Given the description of an element on the screen output the (x, y) to click on. 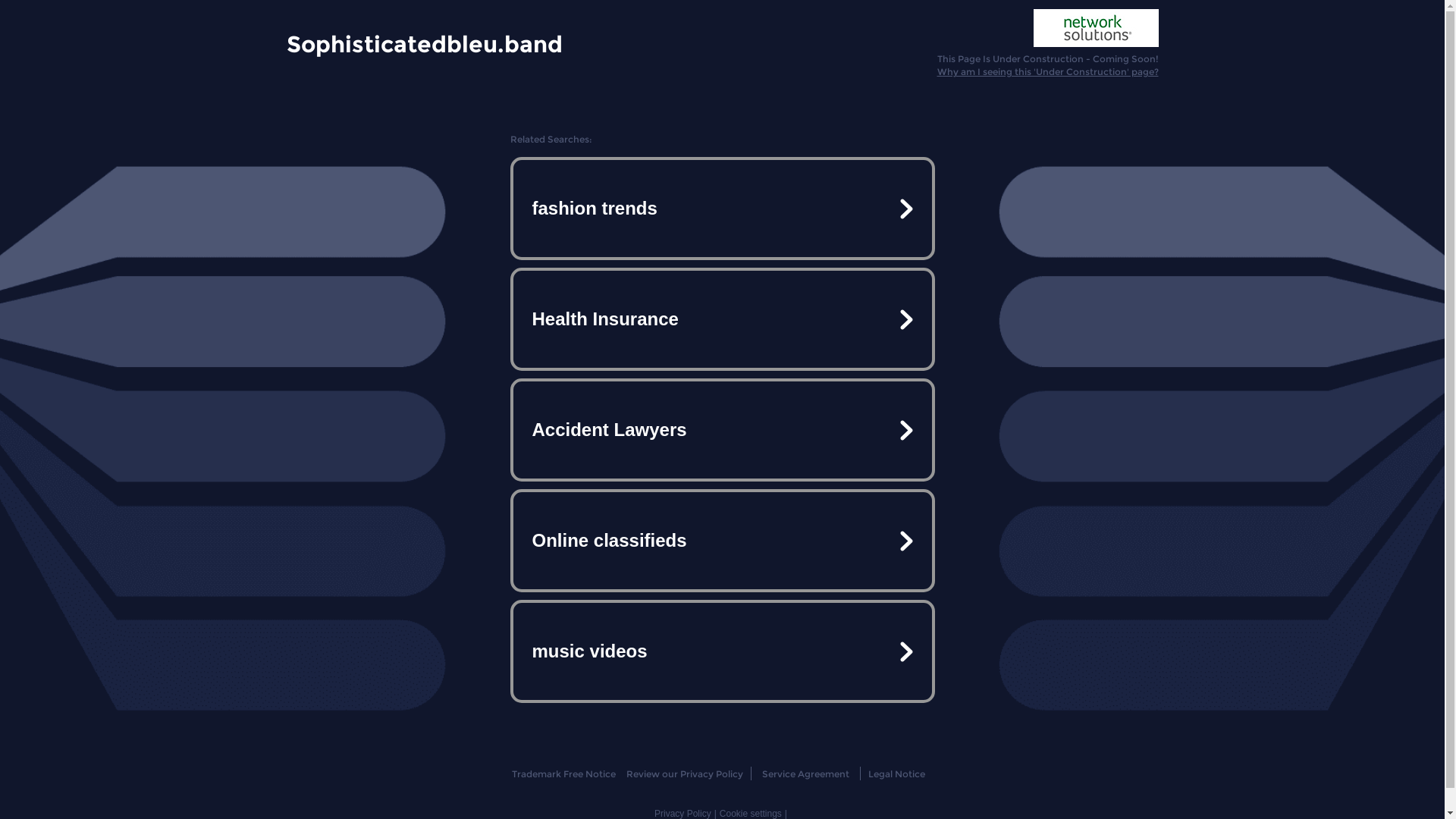
music videos Element type: text (721, 650)
Sophisticatedbleu.band Element type: text (424, 43)
Legal Notice Element type: text (896, 773)
fashion trends Element type: text (721, 208)
Why am I seeing this 'Under Construction' page? Element type: text (1047, 71)
Online classifieds Element type: text (721, 540)
Accident Lawyers Element type: text (721, 429)
Trademark Free Notice Element type: text (563, 773)
Review our Privacy Policy Element type: text (684, 773)
Service Agreement Element type: text (805, 773)
Health Insurance Element type: text (721, 318)
